Given the description of an element on the screen output the (x, y) to click on. 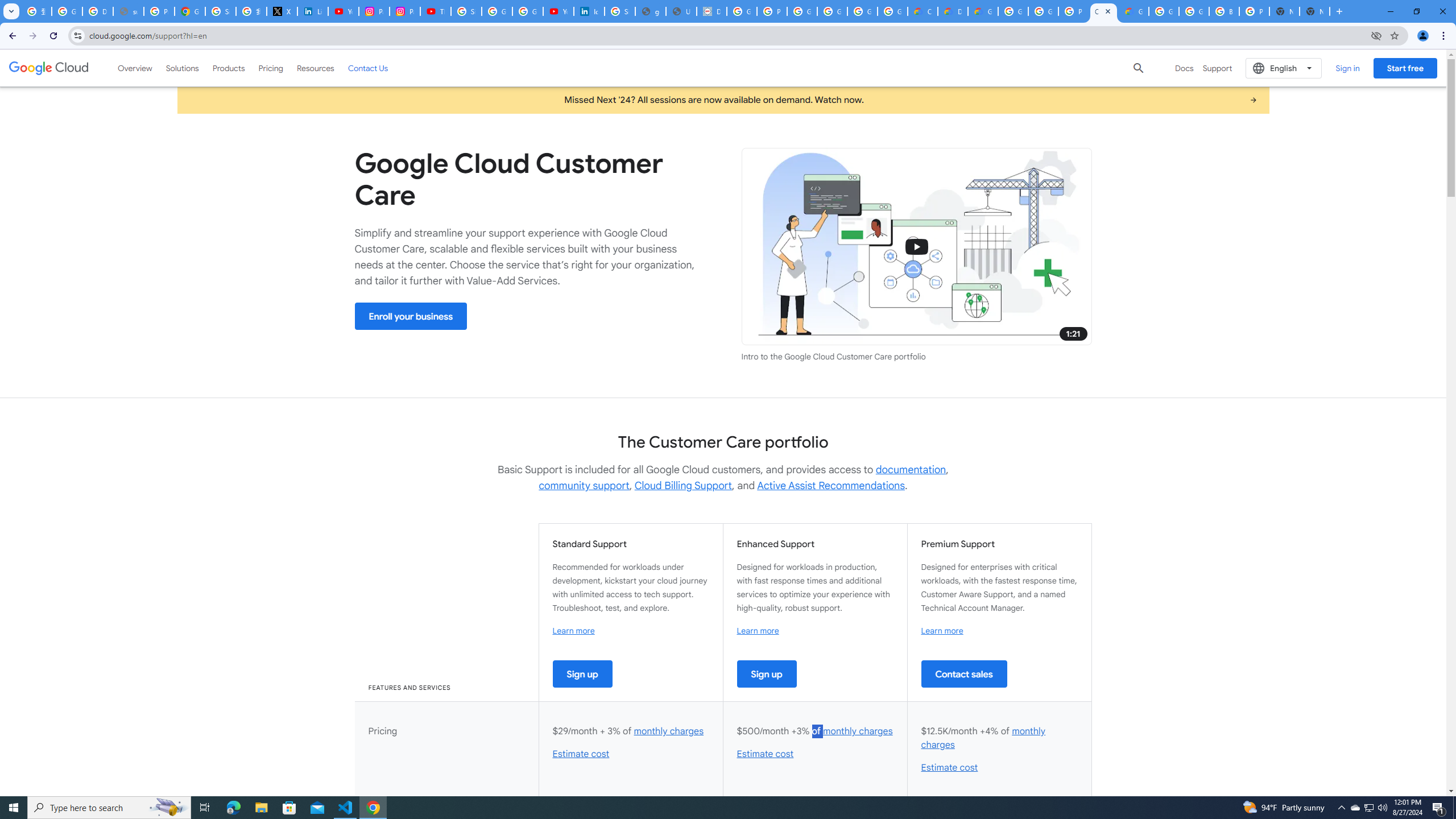
Google Workspace - Specific Terms (862, 11)
Contact Us (368, 67)
google_privacy_policy_en.pdf (650, 11)
Support illustration (916, 246)
Google Cloud Platform (1042, 11)
New Tab (1314, 11)
Solutions (181, 67)
community support (583, 485)
X (282, 11)
Learn more (941, 630)
LinkedIn Privacy Policy (312, 11)
